Given the description of an element on the screen output the (x, y) to click on. 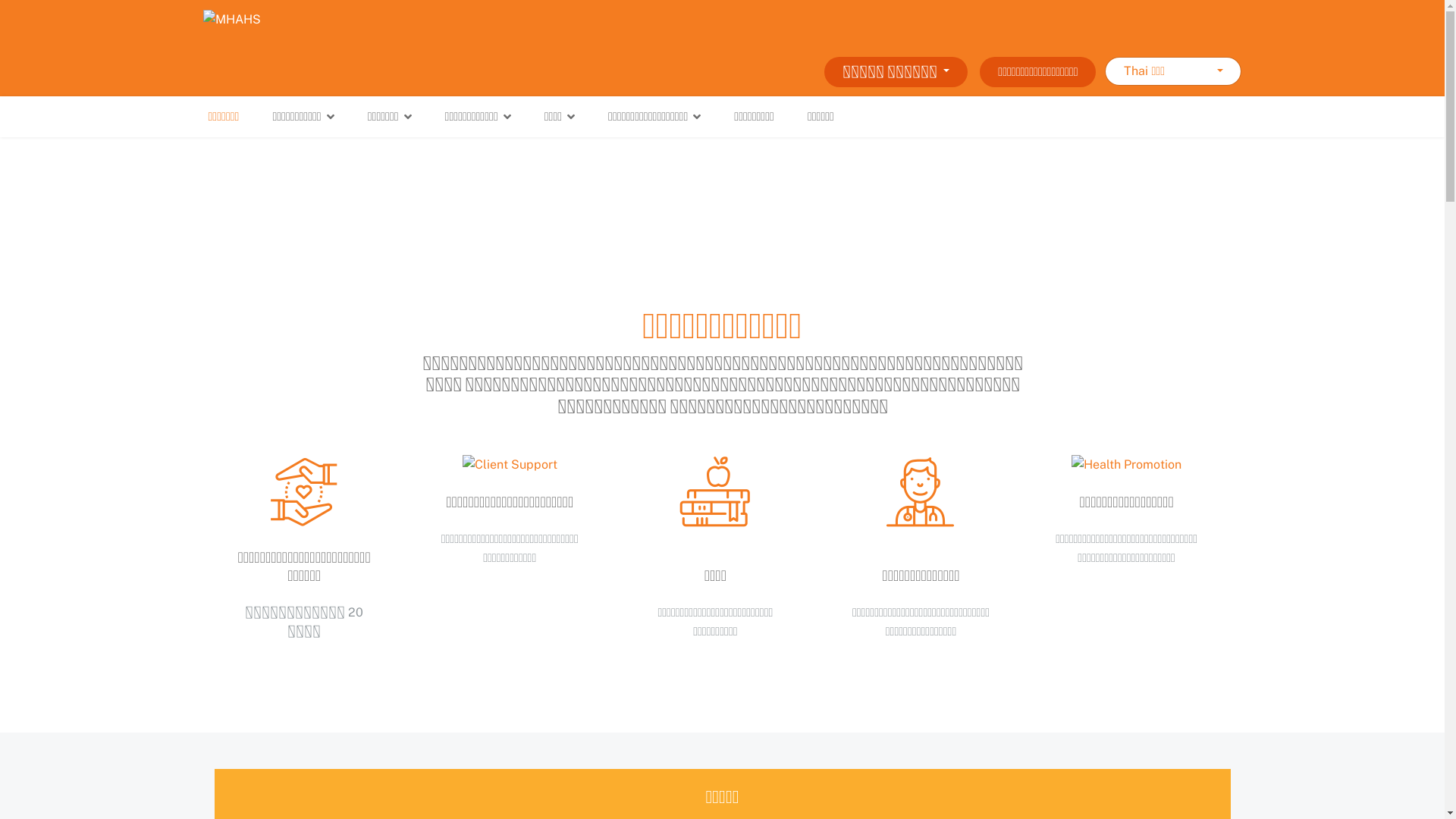
Media Element type: hover (715, 492)
Client Support Element type: hover (509, 464)
Health Promotion Element type: hover (1126, 464)
HIV & Hepatitis Multicultural Information Element type: hover (304, 492)
Workforce Development Element type: hover (920, 492)
